Given the description of an element on the screen output the (x, y) to click on. 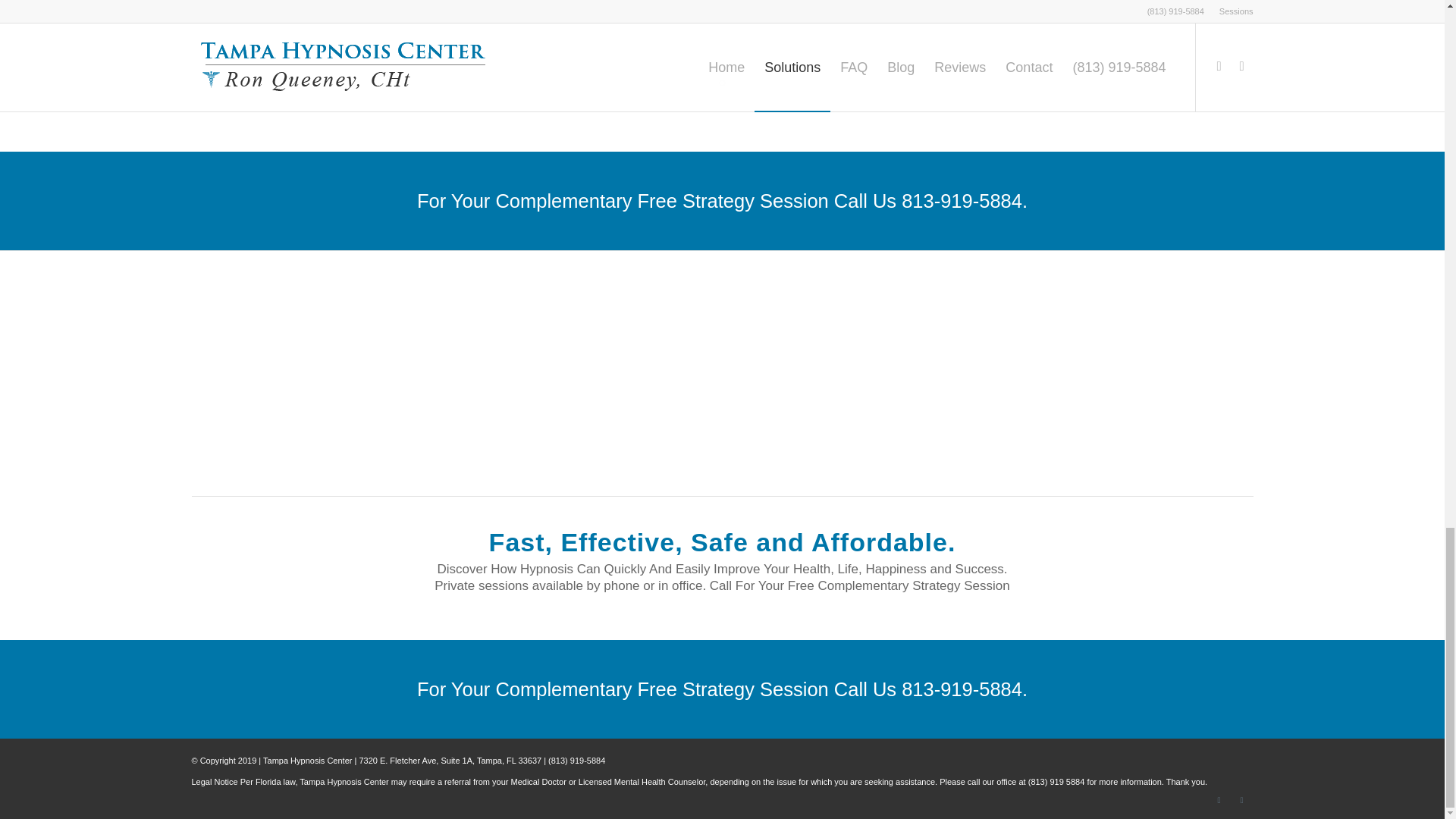
Gplus (1241, 799)
Facebook (1218, 799)
